Given the description of an element on the screen output the (x, y) to click on. 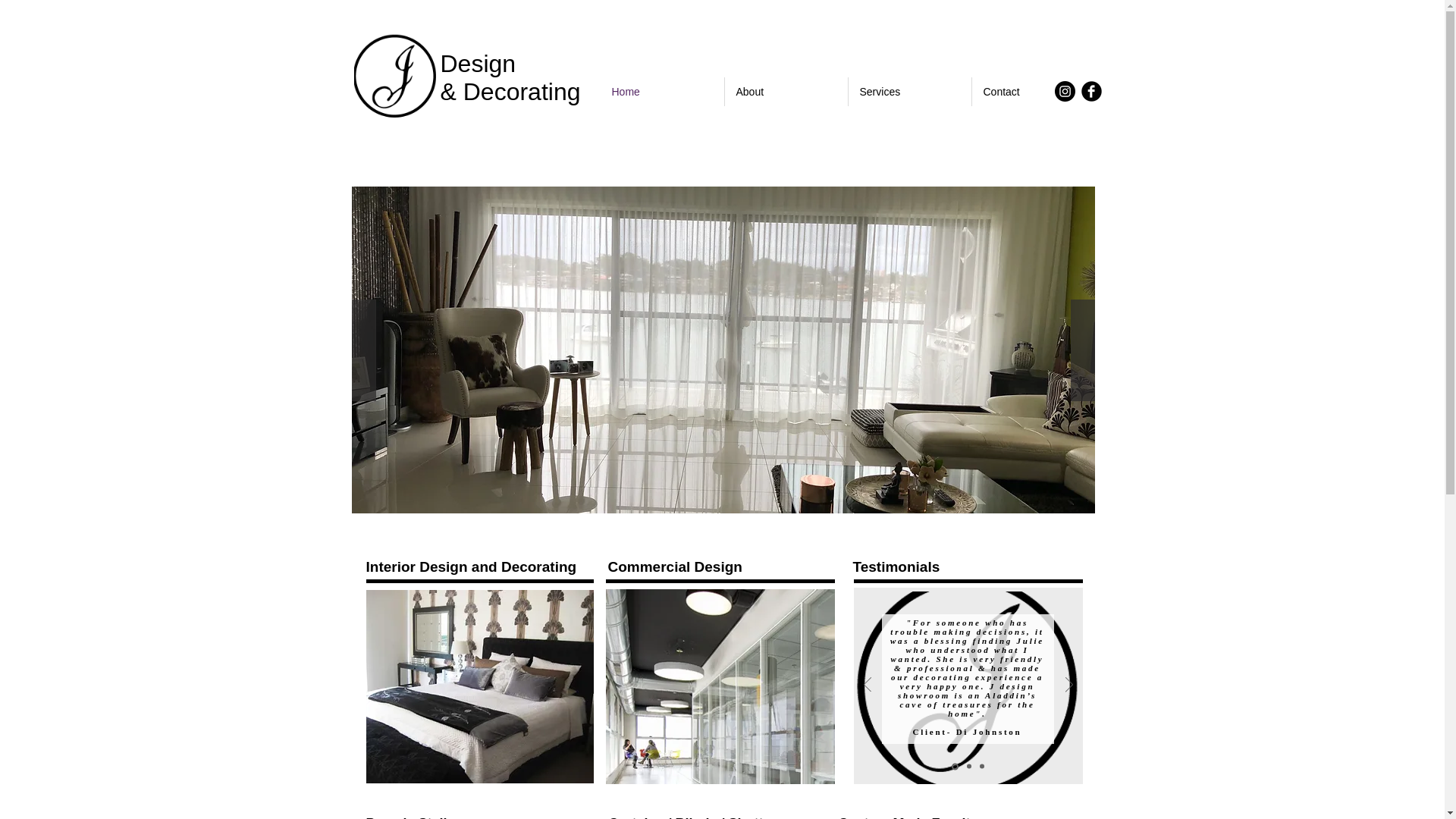
Services Element type: text (908, 91)
About Element type: text (785, 91)
Contact Element type: text (1033, 91)
Home Element type: text (662, 91)
